Given the description of an element on the screen output the (x, y) to click on. 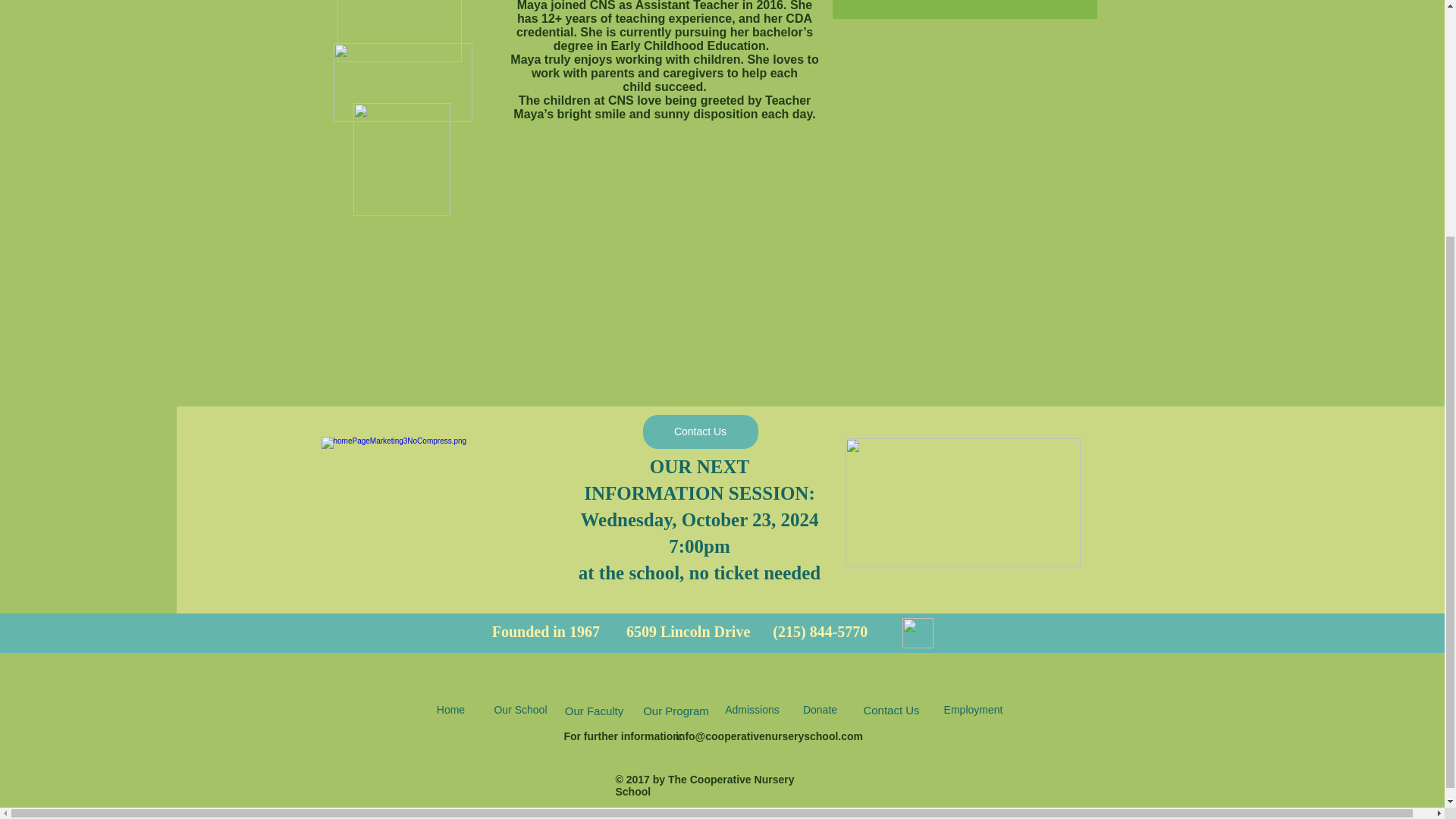
Admissions (752, 709)
Donate (819, 709)
Contact Us (700, 431)
Our School (521, 709)
Employment (973, 710)
Our Program (676, 709)
Contact Us (891, 709)
Donate To Our Capital Campaign (402, 82)
Our Faculty (593, 709)
